Given the description of an element on the screen output the (x, y) to click on. 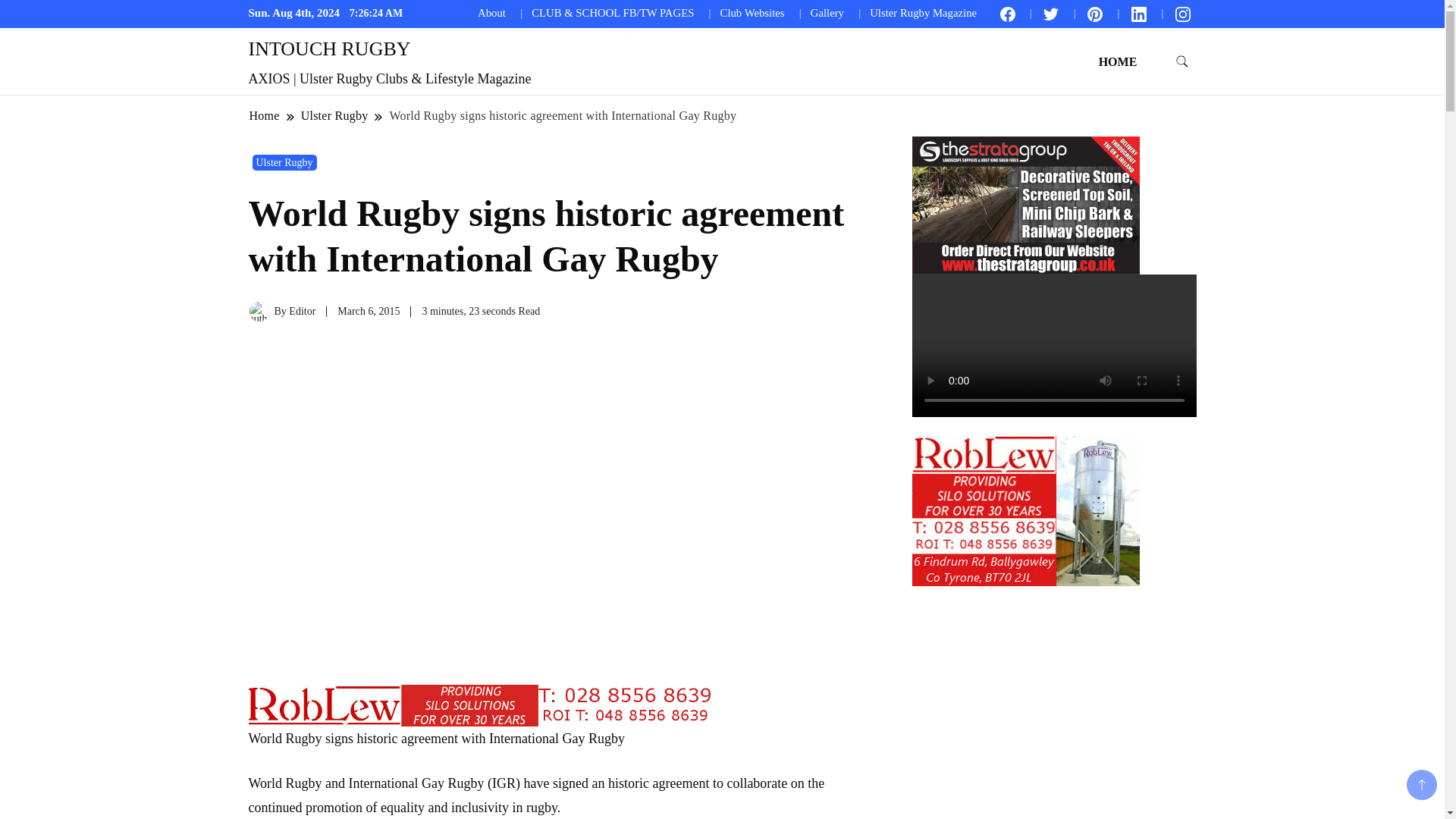
HOME (1118, 61)
Home (264, 115)
Advertisement (1024, 702)
Ulster Rugby Magazine (922, 12)
Ulster Rugby (334, 115)
About (491, 12)
Gallery (827, 12)
Club Websites (752, 12)
Editor (301, 310)
March 6, 2015 (367, 310)
INTOUCH RUGBY (329, 48)
Ulster Rugby (283, 162)
